Given the description of an element on the screen output the (x, y) to click on. 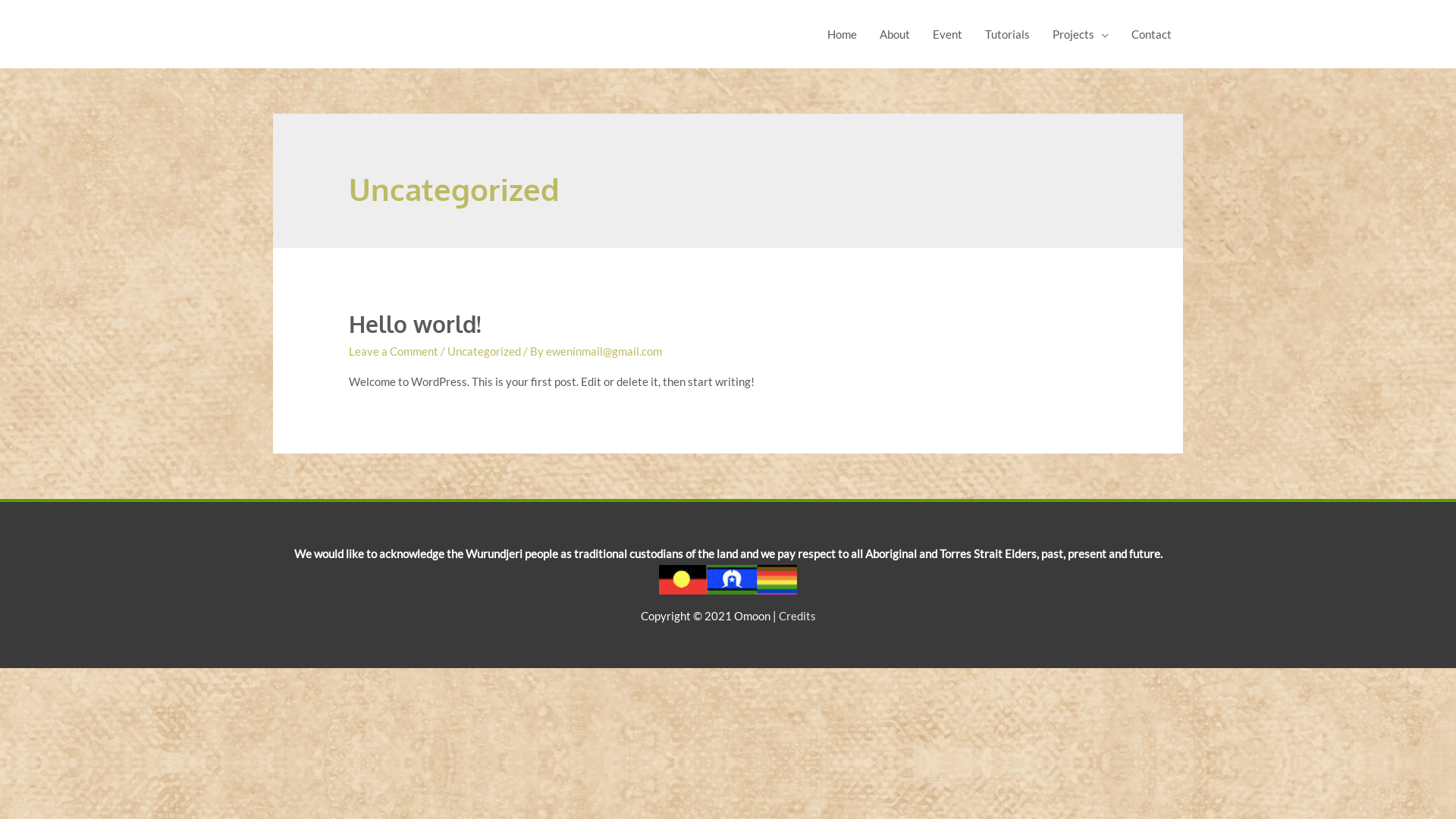
About Element type: text (894, 33)
Credits Element type: text (796, 615)
eweninmail@gmail.com Element type: text (604, 350)
Tutorials Element type: text (1007, 33)
Home Element type: text (841, 33)
Hello world! Element type: text (414, 323)
Contact Element type: text (1151, 33)
Projects Element type: text (1080, 33)
Uncategorized Element type: text (483, 350)
Event Element type: text (947, 33)
Leave a Comment Element type: text (393, 350)
